Given the description of an element on the screen output the (x, y) to click on. 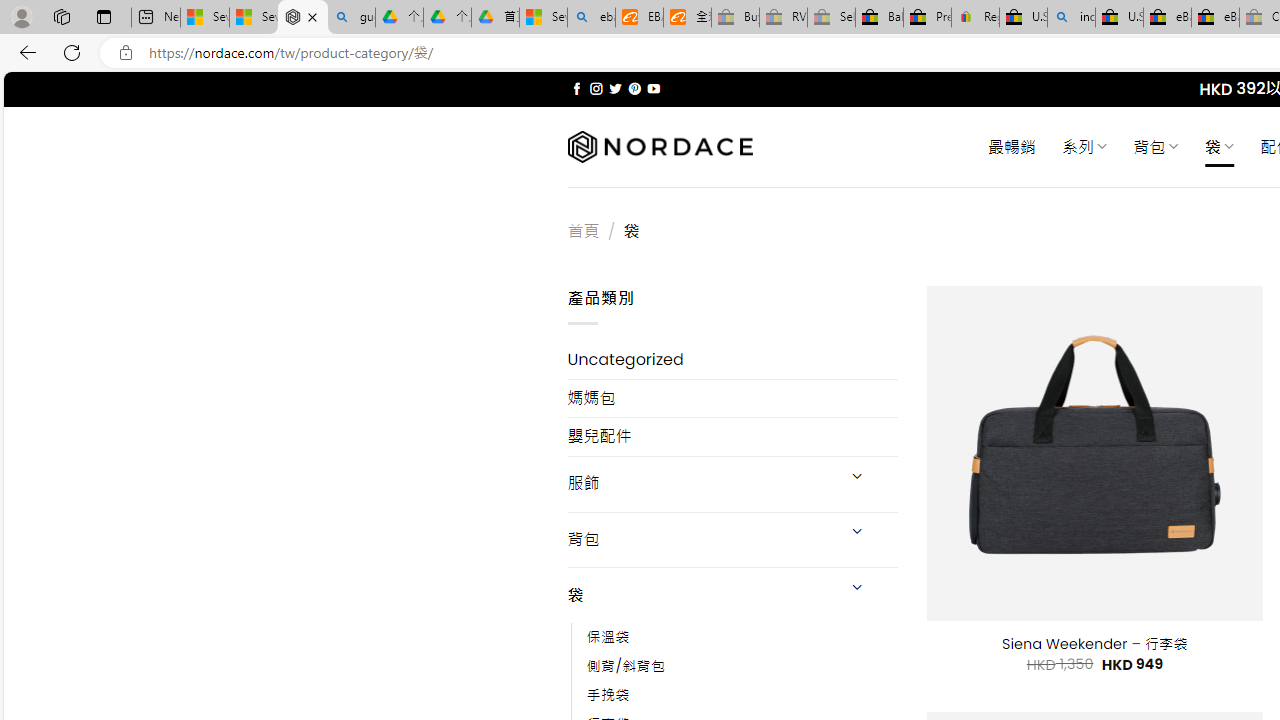
U.S. State Privacy Disclosures - eBay Inc. (1119, 17)
Register: Create a personal eBay account (975, 17)
eBay Inc. Reports Third Quarter 2023 Results (1215, 17)
